Given the description of an element on the screen output the (x, y) to click on. 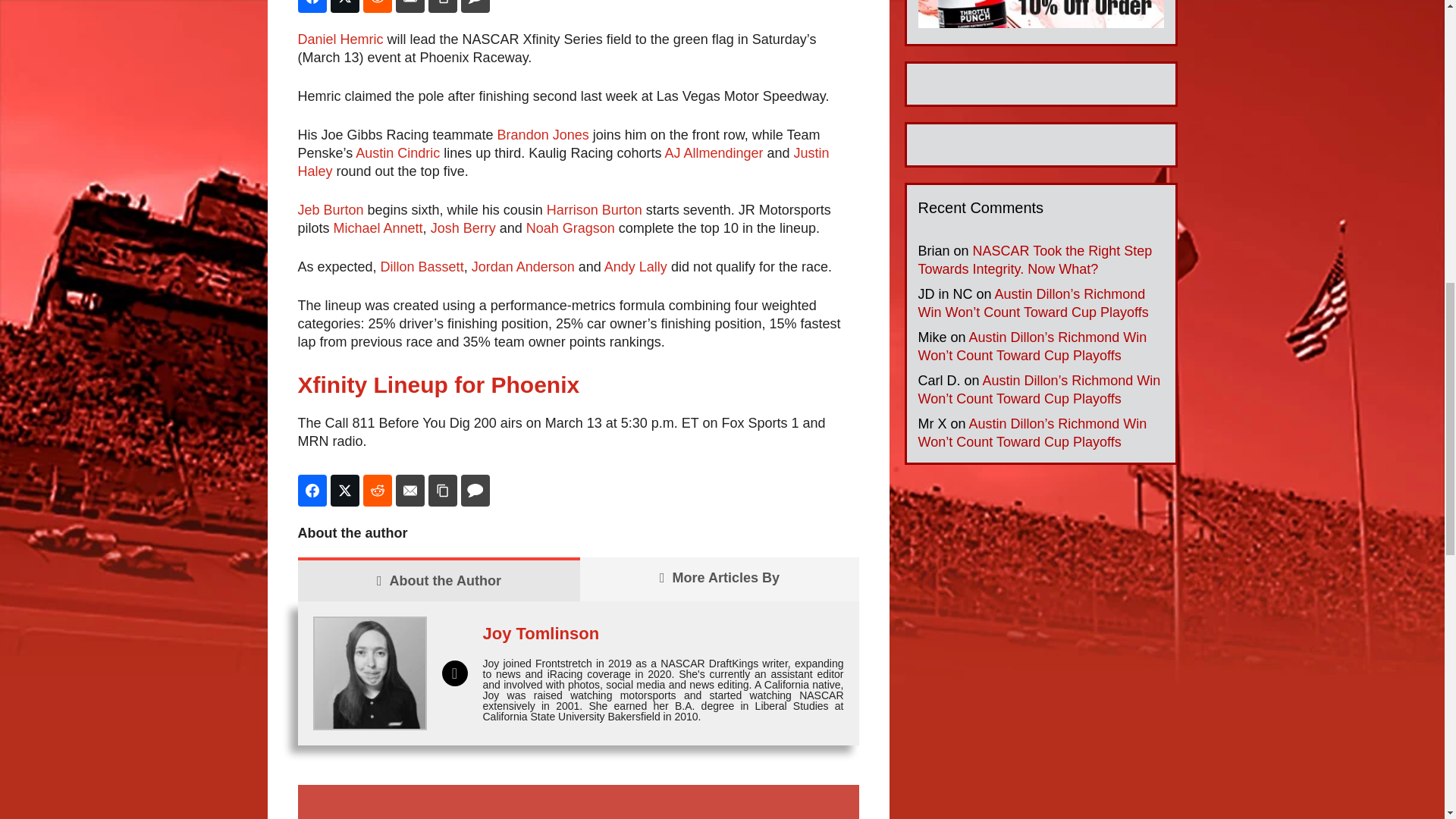
Jordan Anderson (523, 266)
Share on Email (410, 6)
AJ Allmendinger (712, 152)
Share on Copy Link (442, 6)
Josh Berry (463, 227)
Share on Email (410, 490)
Share on Reddit (376, 490)
Brandon Jones (543, 134)
Joy Tomlinson (539, 633)
Harrison Burton (594, 209)
